Given the description of an element on the screen output the (x, y) to click on. 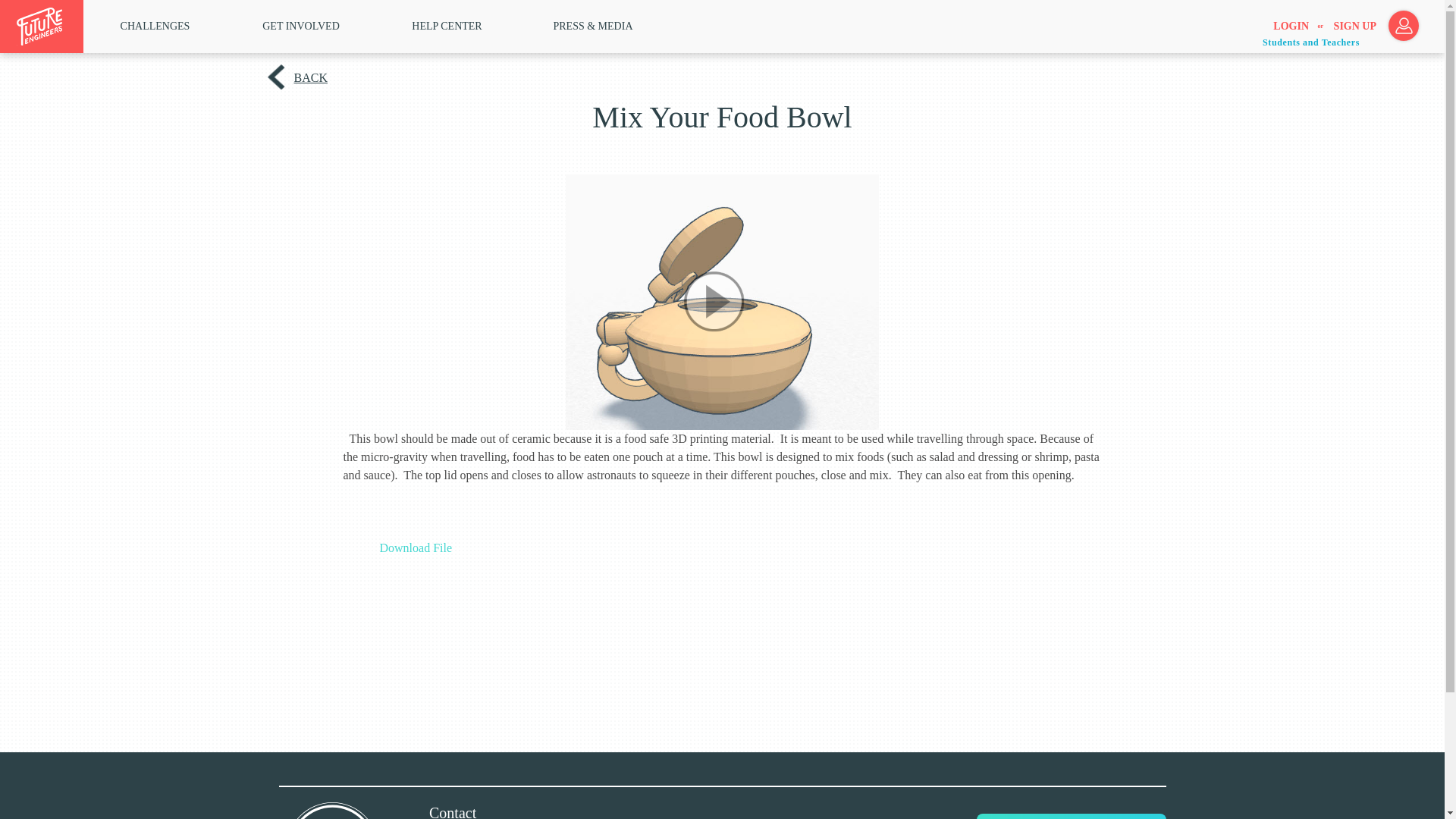
HELP CENTER (446, 25)
CHALLENGES (155, 25)
Back (308, 77)
LOGIN (1290, 26)
SIGN UP (1354, 26)
